Given the description of an element on the screen output the (x, y) to click on. 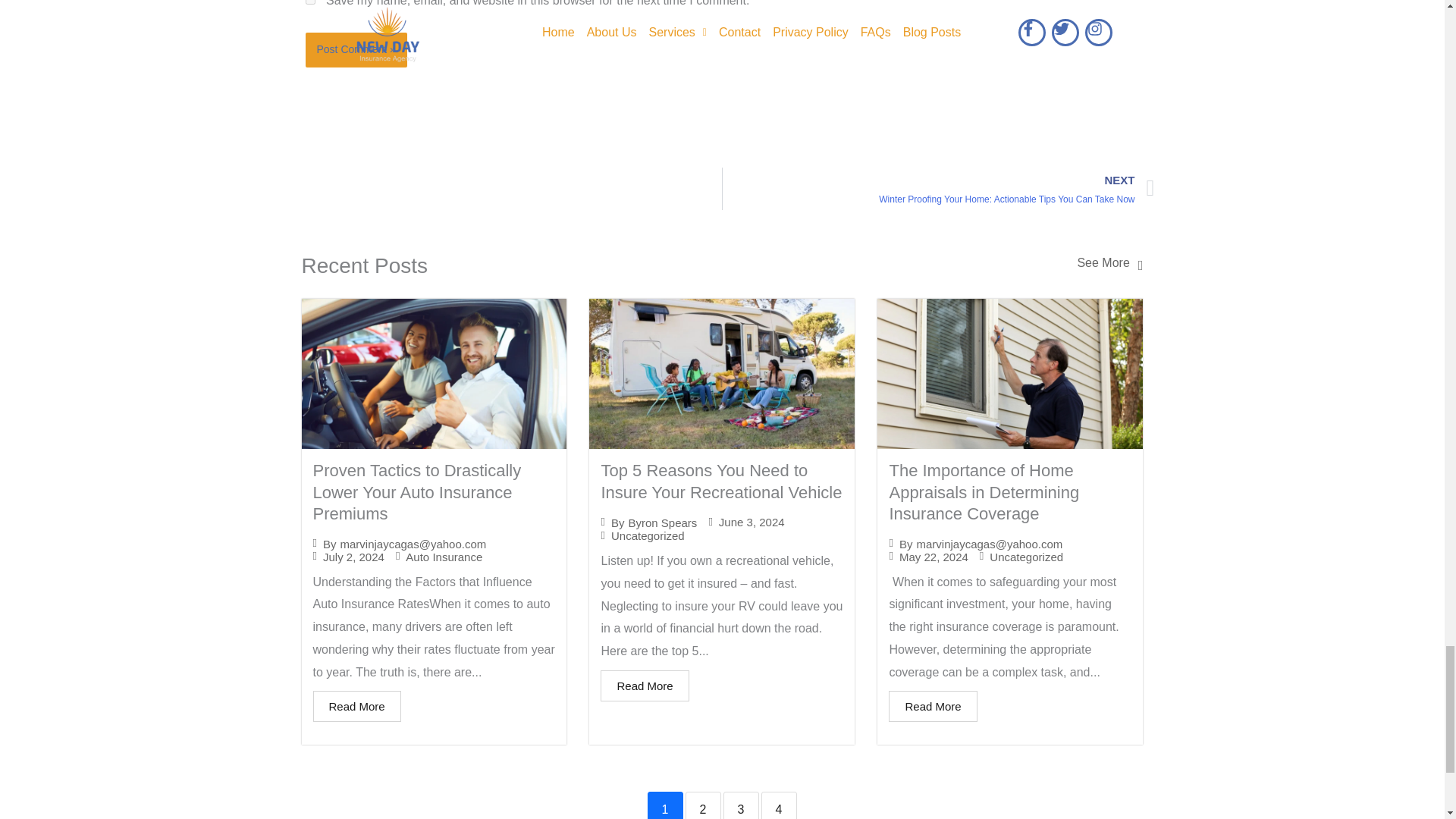
yes (309, 2)
